Given the description of an element on the screen output the (x, y) to click on. 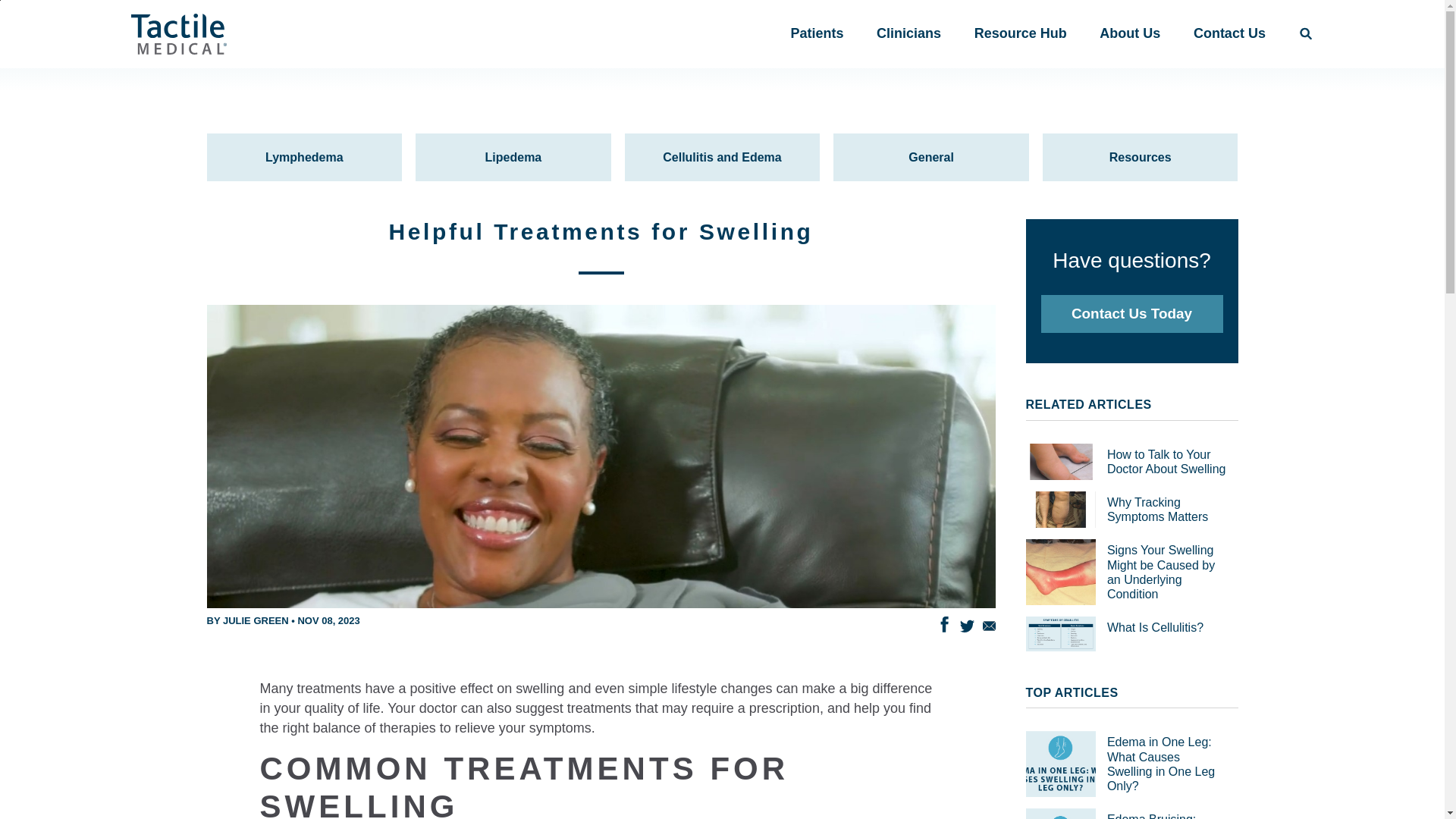
Clinicians (908, 33)
Share this article with your Facebook feed. (942, 621)
Share this article with your Twitter followers (965, 625)
Patients (816, 33)
